Given the description of an element on the screen output the (x, y) to click on. 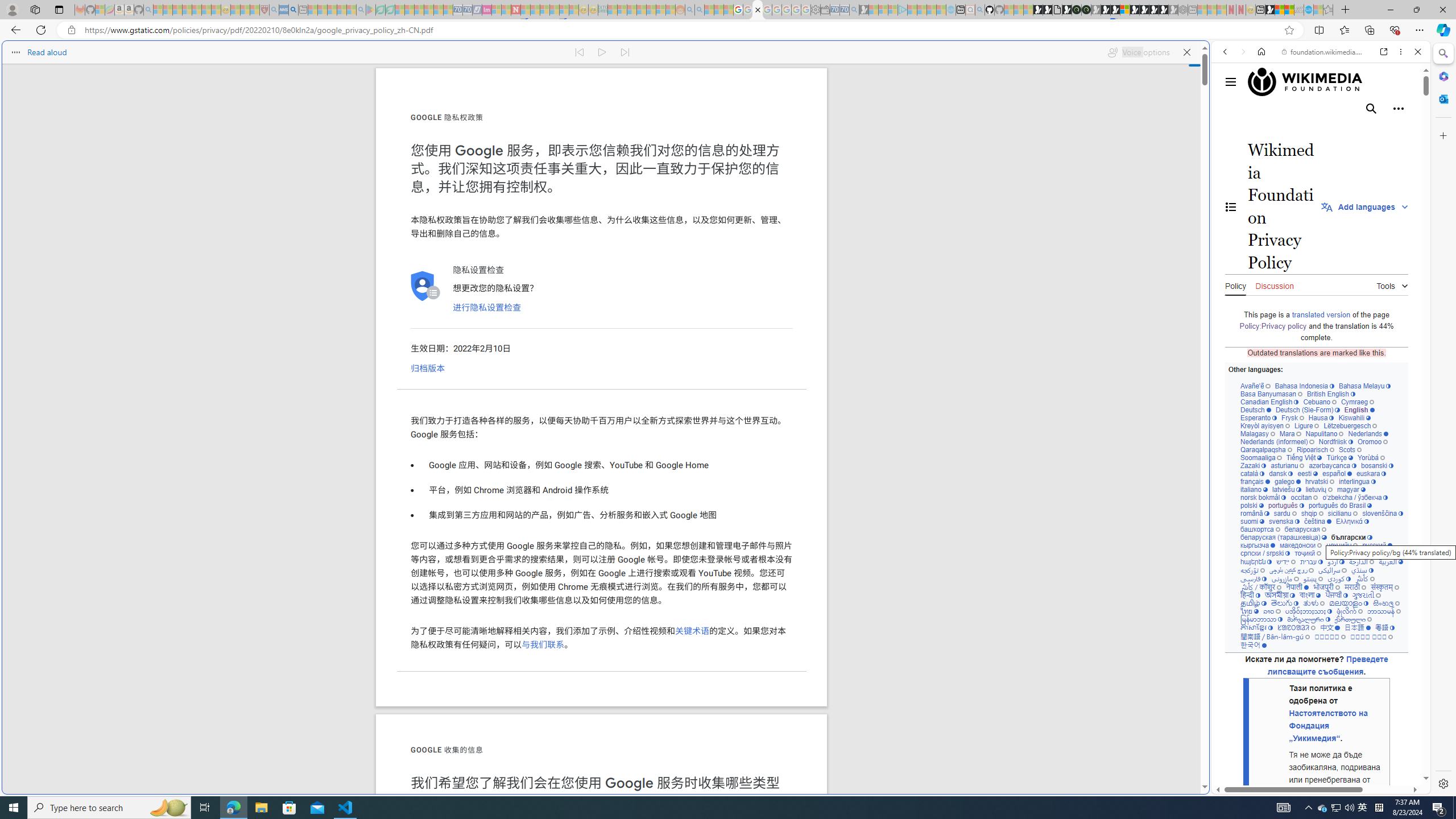
magyar (1350, 488)
interlingua (1357, 481)
Wiktionary (1315, 380)
